Given the description of an element on the screen output the (x, y) to click on. 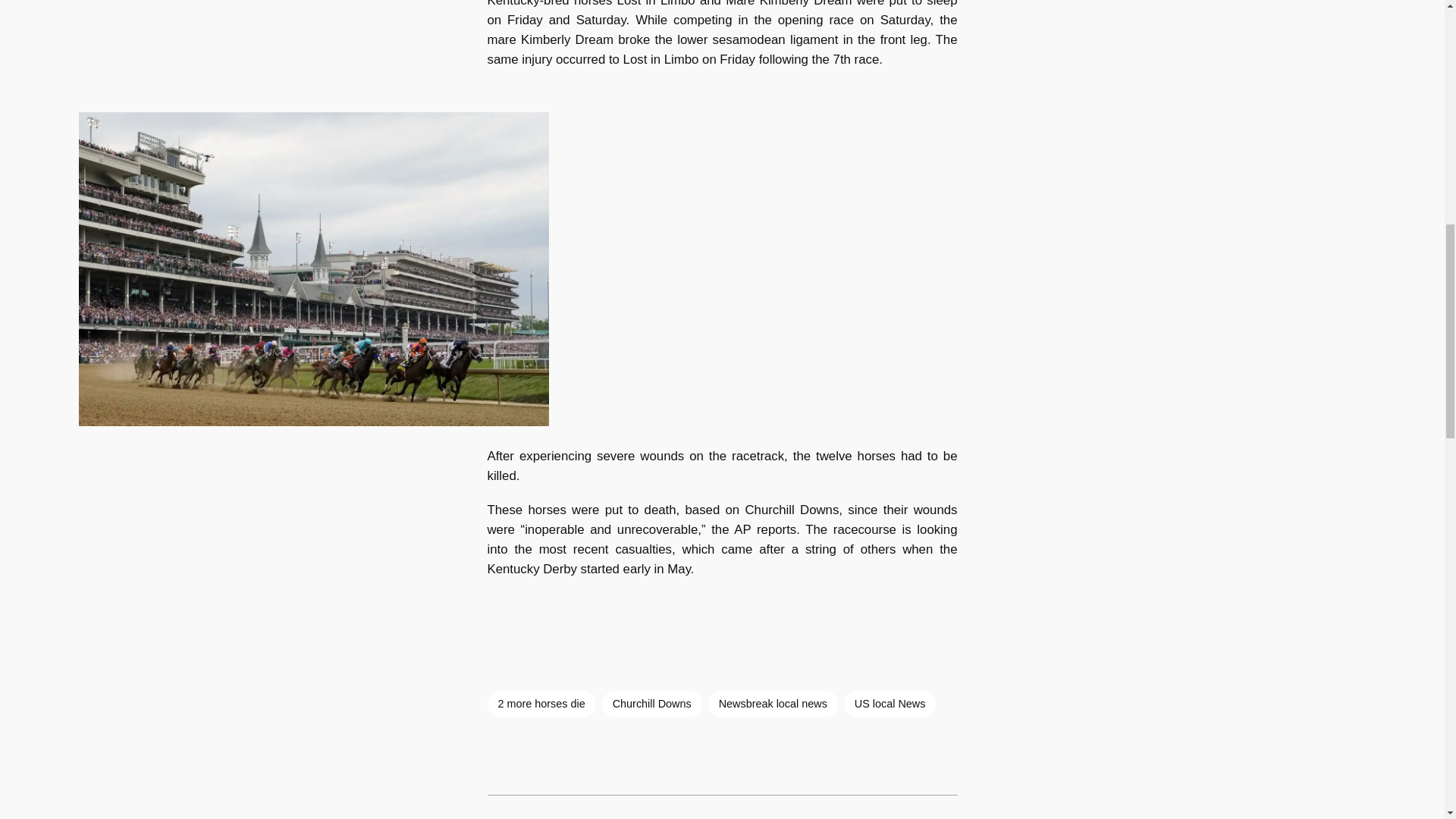
US local News (890, 703)
2 more horses die (540, 703)
Churchill Downs (651, 703)
Newsbreak local news (772, 703)
